Given the description of an element on the screen output the (x, y) to click on. 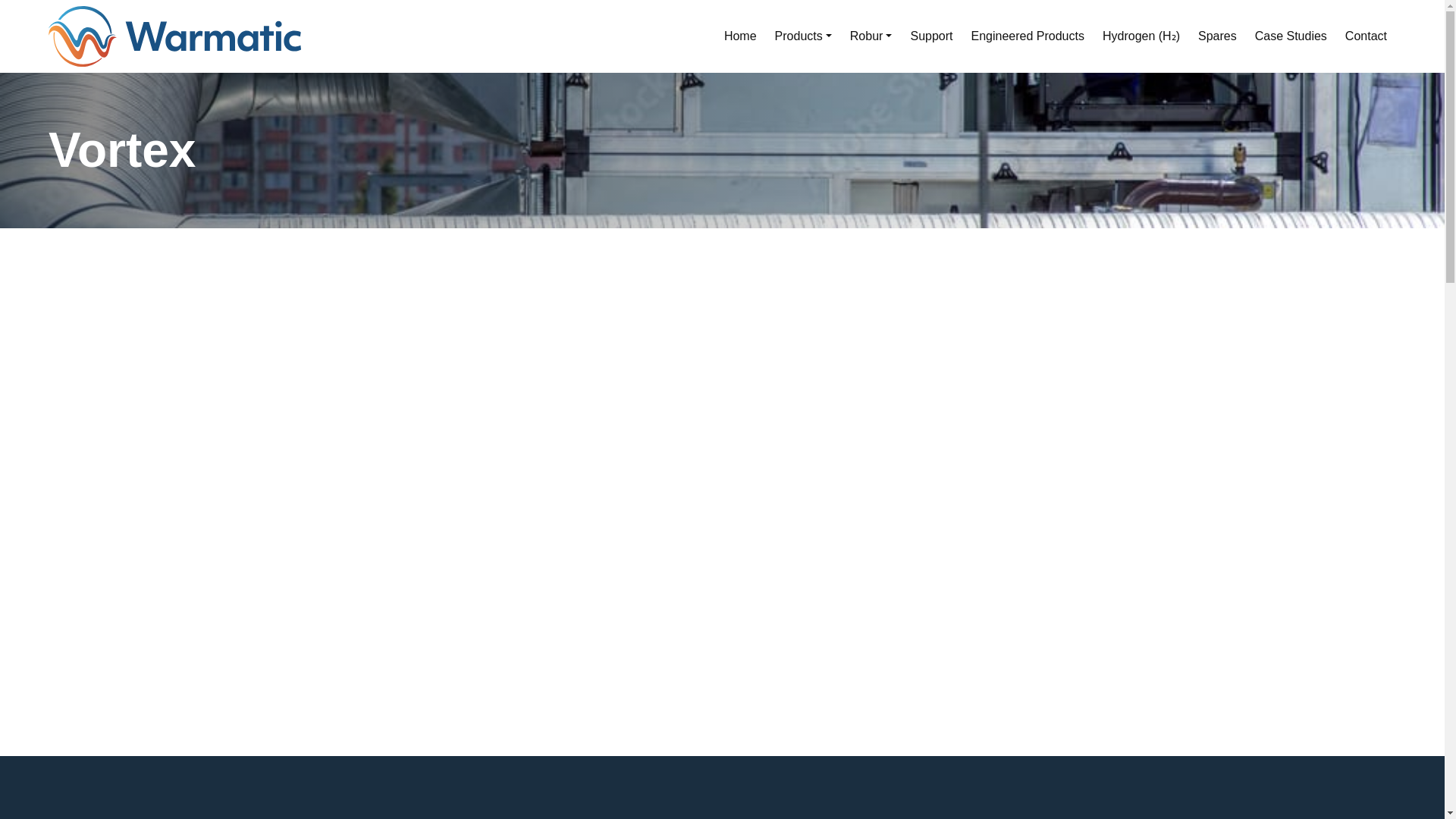
Products (803, 36)
Engineered Products (1027, 36)
Home (739, 36)
Products (803, 36)
Contact (1366, 36)
Case Studies (1291, 36)
Robur (871, 36)
Robur (871, 36)
Support (930, 36)
Spares (1217, 36)
Home (739, 36)
